Given the description of an element on the screen output the (x, y) to click on. 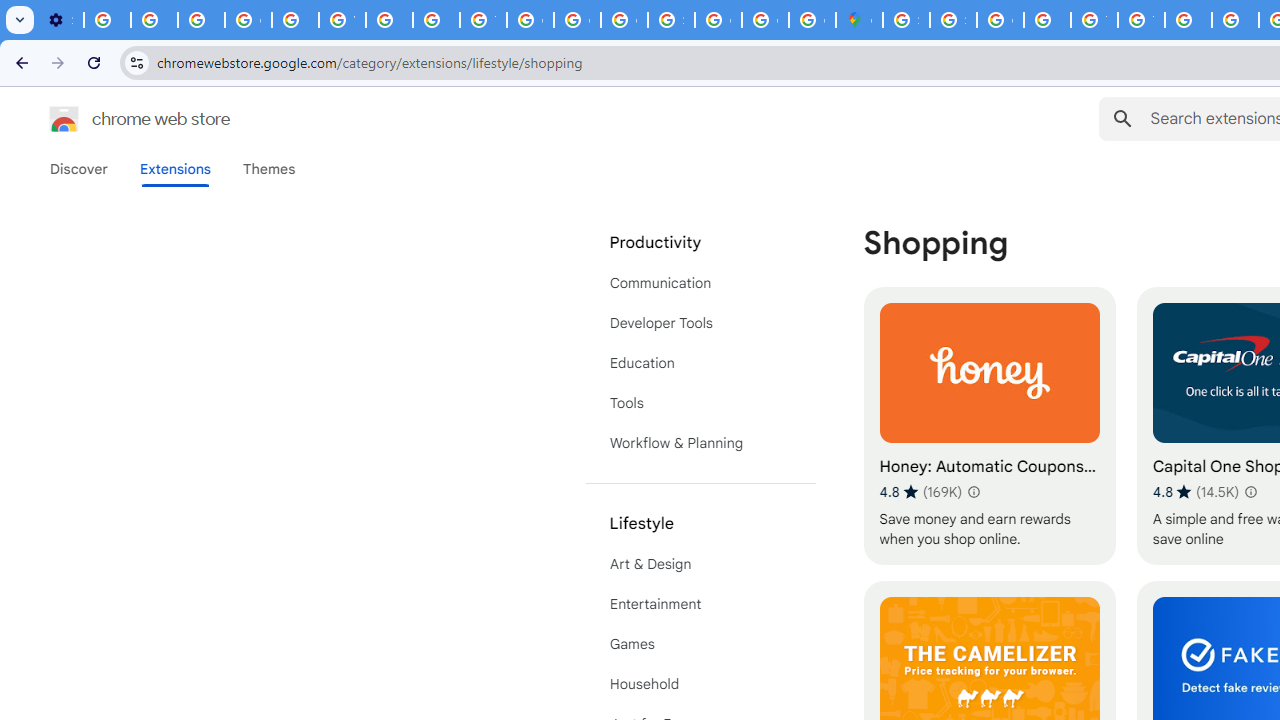
Extensions (174, 169)
Games (700, 643)
Delete photos & videos - Computer - Google Photos Help (107, 20)
Developer Tools (700, 322)
Chrome Web Store logo (63, 118)
YouTube (342, 20)
Sign in - Google Accounts (953, 20)
Discover (79, 169)
Chrome Web Store logo chrome web store (118, 118)
Art & Design (700, 563)
